Given the description of an element on the screen output the (x, y) to click on. 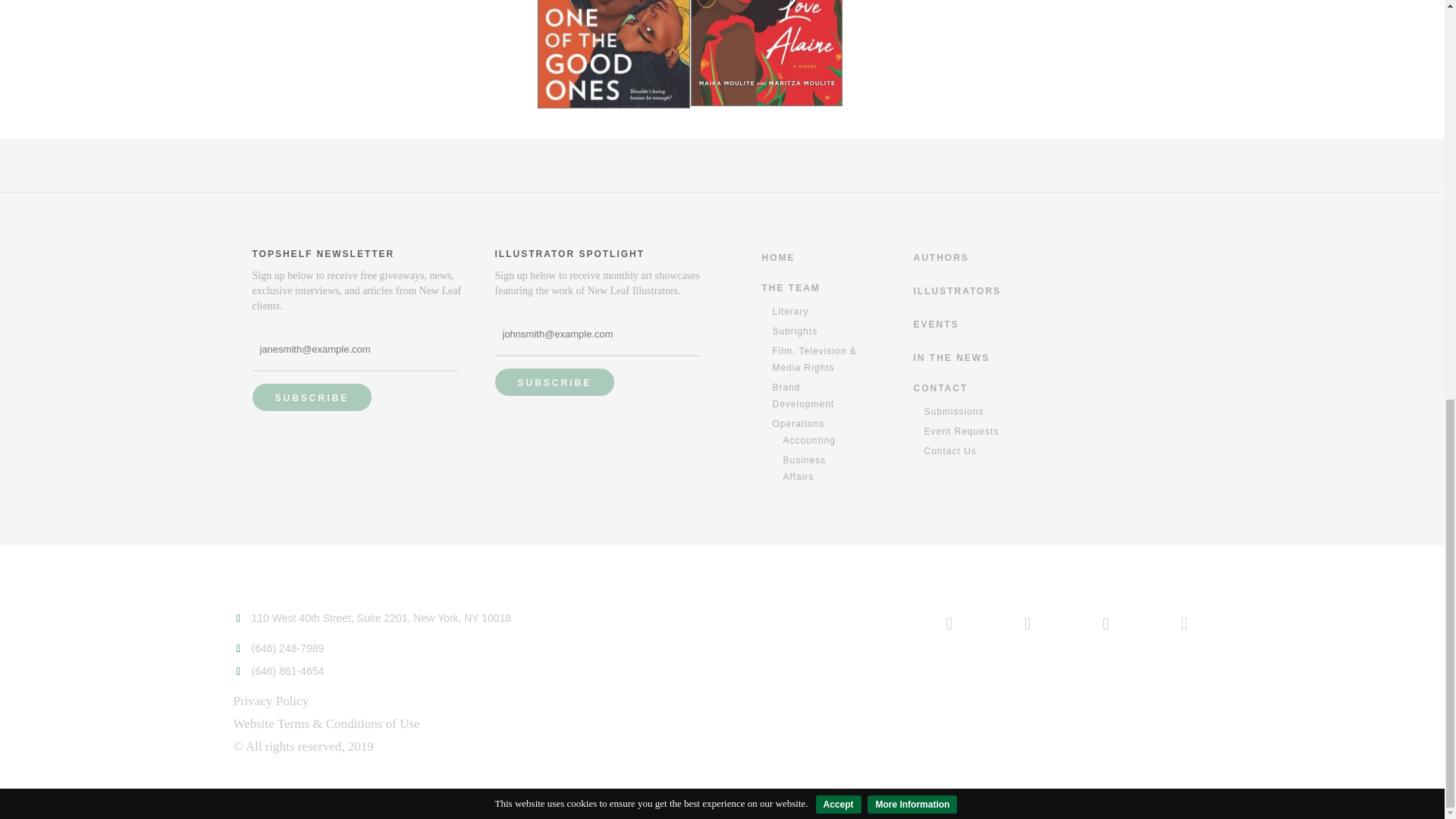
Dear Haiti Love Alaine (766, 53)
Subscribe (311, 397)
Subscribe (554, 381)
